Given the description of an element on the screen output the (x, y) to click on. 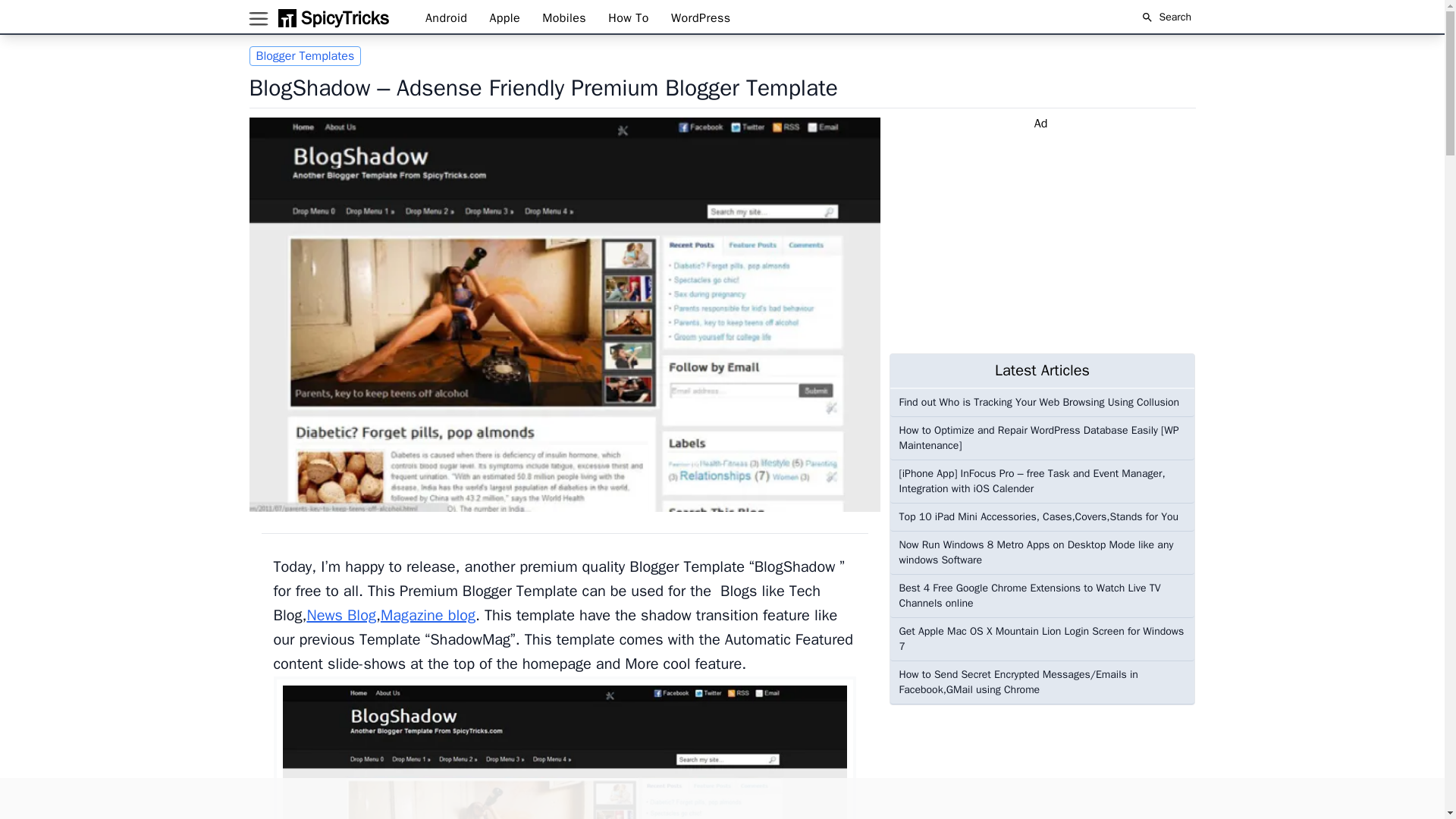
Blogger Templates (304, 55)
Top 10 iPad Mini Accessories, Cases,Covers,Stands for You (1042, 516)
How To (630, 17)
menu (258, 19)
Get Apple Mac OS X Mountain Lion Login Screen for Windows 7 (1042, 639)
Apple (506, 17)
Find out Who is Tracking Your Web Browsing Using Collusion (1042, 402)
How To (630, 17)
www.SpicyTricks.com (330, 17)
blogshadow-template (564, 747)
Android (447, 17)
WordPress (700, 17)
SpicyTricks (330, 17)
WordPress (700, 17)
Find out Who is Tracking Your Web Browsing Using Collusion (1042, 402)
